Given the description of an element on the screen output the (x, y) to click on. 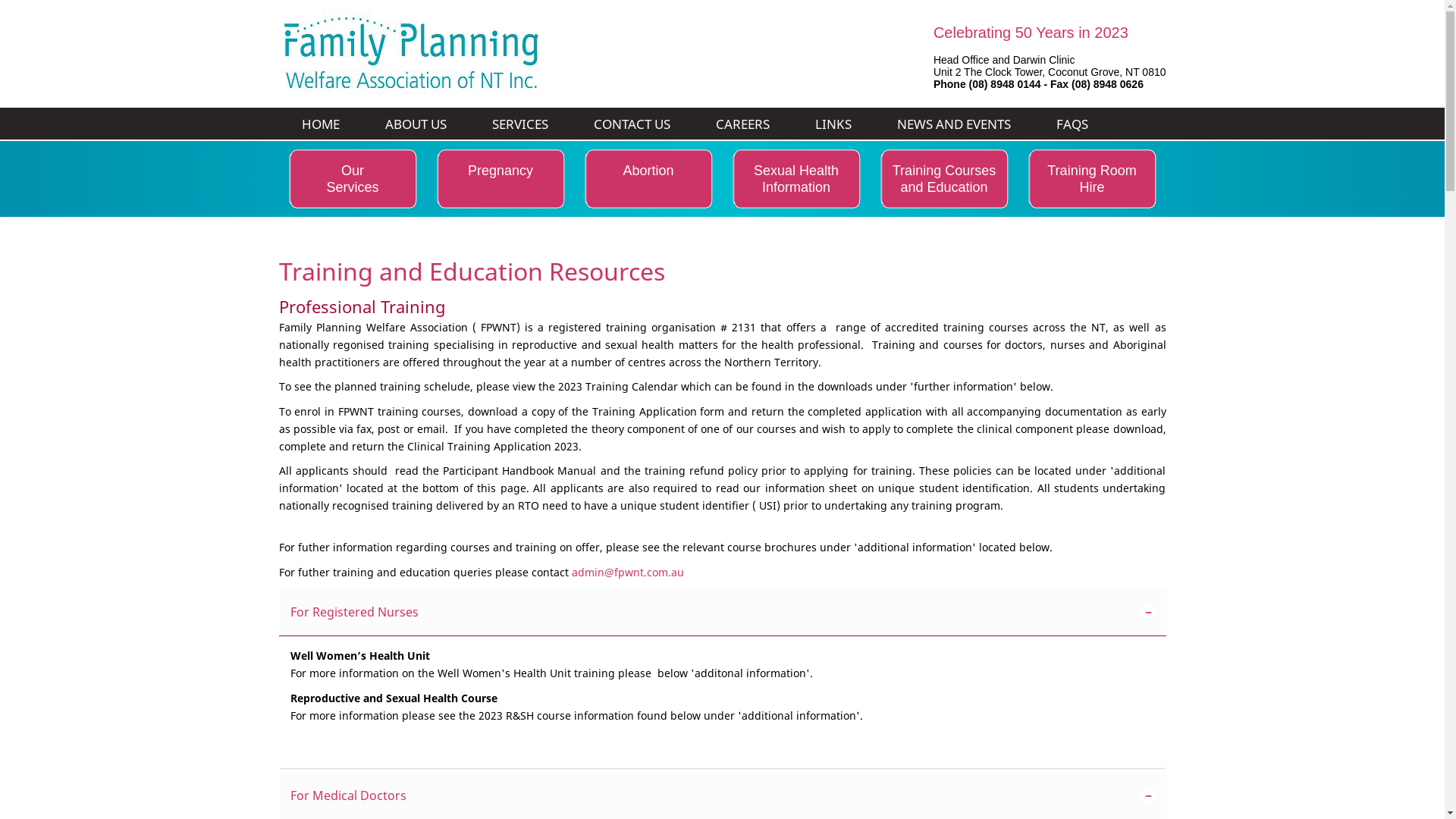
admin@fpwnt.com.au Element type: text (627, 571)
CONTACT US Element type: text (631, 123)
CAREERS Element type: text (742, 123)
NEWS AND EVENTS Element type: text (952, 123)
Our
Services Element type: text (352, 178)
For Registered Nurses Element type: text (712, 612)
Training Room
Hire Element type: text (1091, 178)
Sexual Health
Information Element type: text (796, 178)
HOME Element type: text (320, 123)
For Medical Doctors Element type: text (712, 796)
LINKS Element type: text (832, 123)
SERVICES Element type: text (519, 123)
FAQS Element type: text (1071, 123)
Pregnancy Element type: text (500, 178)
Training Courses
and Education Element type: text (944, 178)
ABOUT US Element type: text (415, 123)
Abortion Element type: text (648, 178)
